Given the description of an element on the screen output the (x, y) to click on. 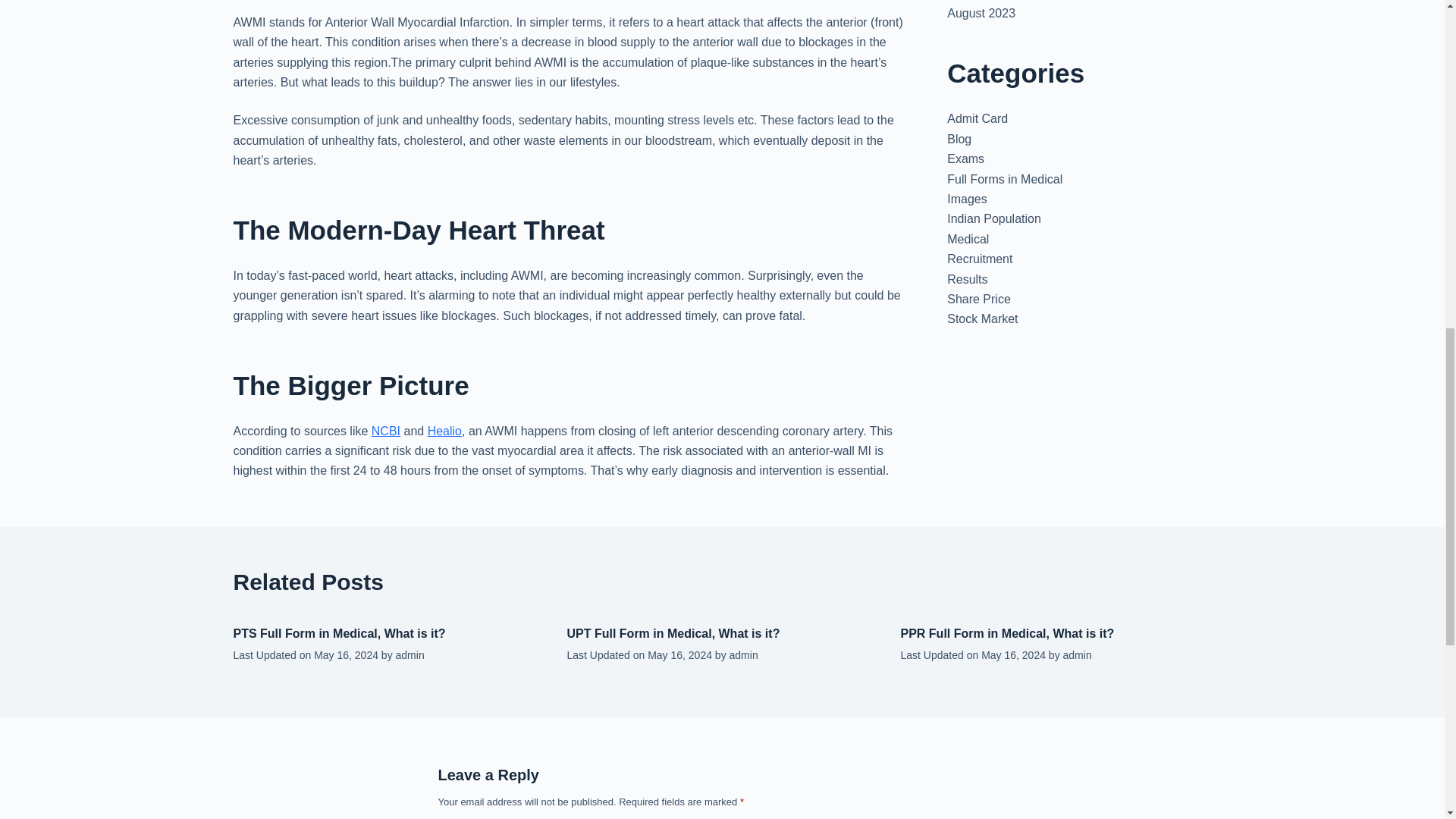
Admit Card (977, 118)
August 2023 (980, 12)
Indian Population (994, 218)
Images (967, 198)
Blog (959, 138)
Exams (965, 158)
Full Forms in Medical (1004, 178)
Medical (967, 238)
Healio (444, 431)
NCBI (385, 431)
